Given the description of an element on the screen output the (x, y) to click on. 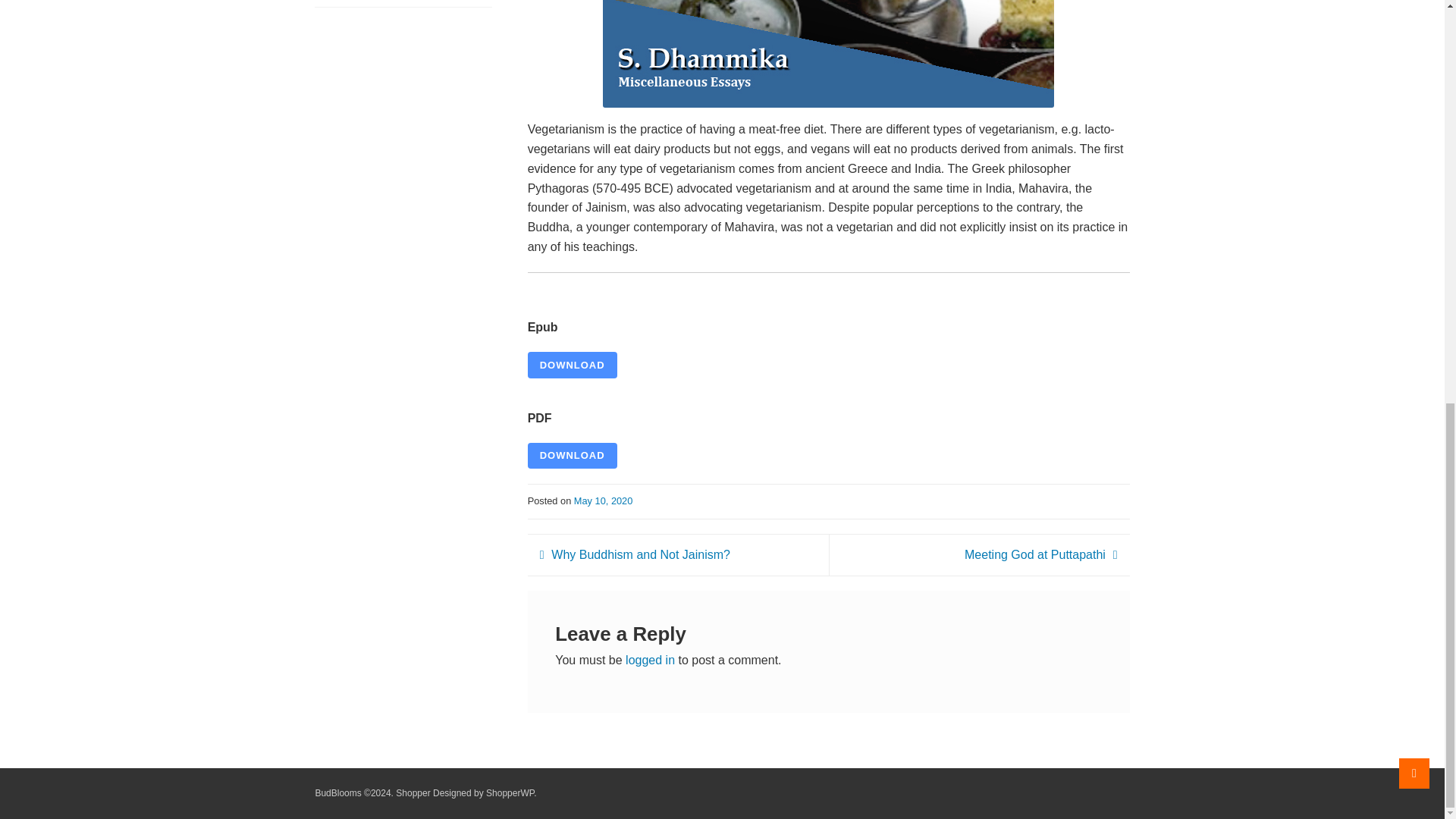
DOWNLOAD (572, 365)
May 10, 2020 (603, 500)
ShopperWP (510, 792)
DOWNLOAD (572, 456)
logged in (650, 659)
Why Buddhism and Not Jainism? (634, 554)
Meeting God at Puttapathi (1040, 554)
Shopper - The Best Free WooCommerce for WordPress (510, 792)
